Given the description of an element on the screen output the (x, y) to click on. 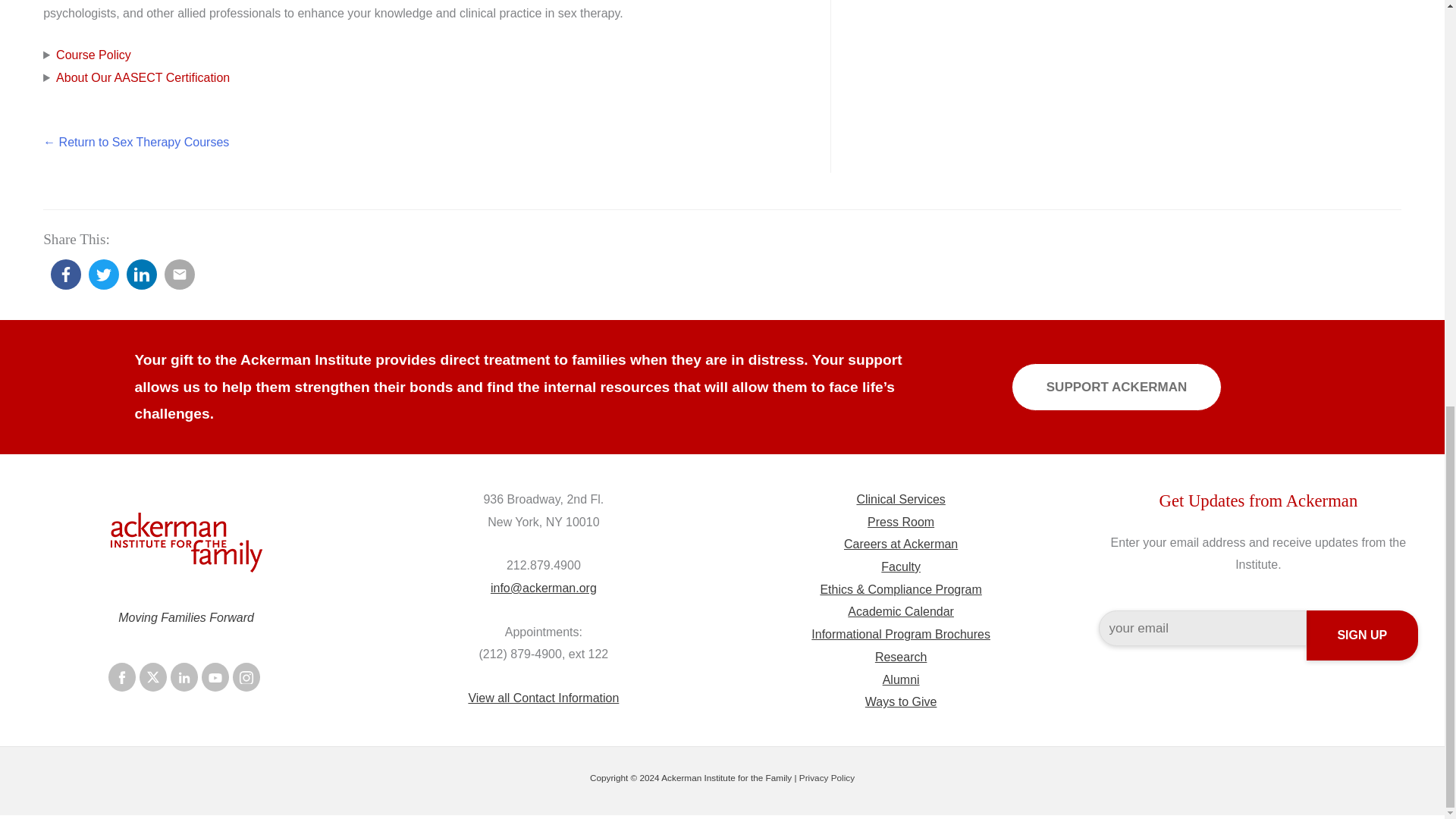
Sign up (1362, 635)
YouTube (215, 676)
Facebook (121, 676)
Instagram (246, 676)
X (153, 676)
LinkedIn (184, 676)
